Given the description of an element on the screen output the (x, y) to click on. 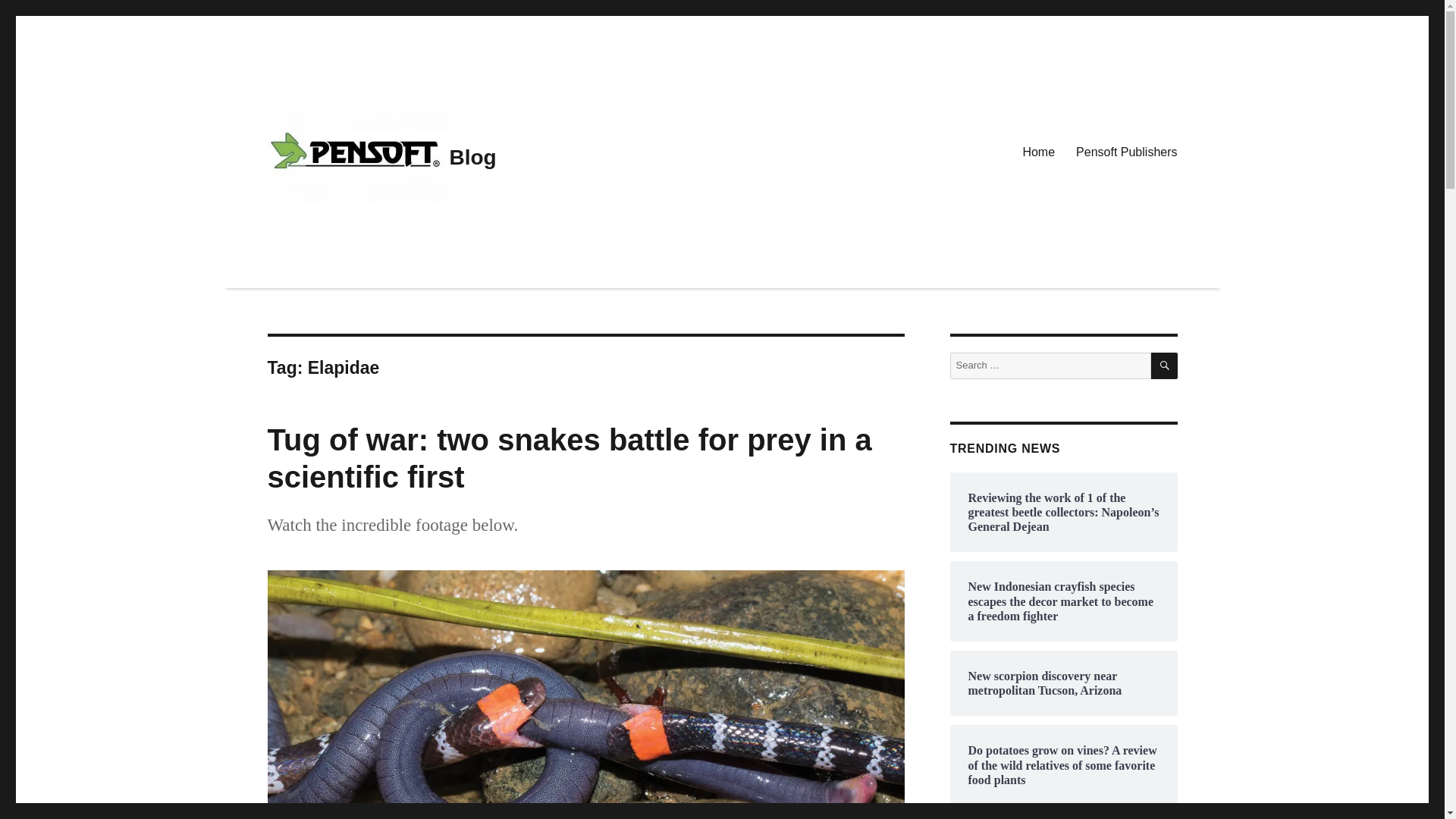
SEARCH (1164, 365)
New scorpion discovery near metropolitan Tucson, Arizona (1063, 683)
Tug of war: two snakes battle for prey in a scientific first (568, 458)
Pensoft Publishers (1126, 152)
Home (1038, 152)
Blog (472, 156)
